Given the description of an element on the screen output the (x, y) to click on. 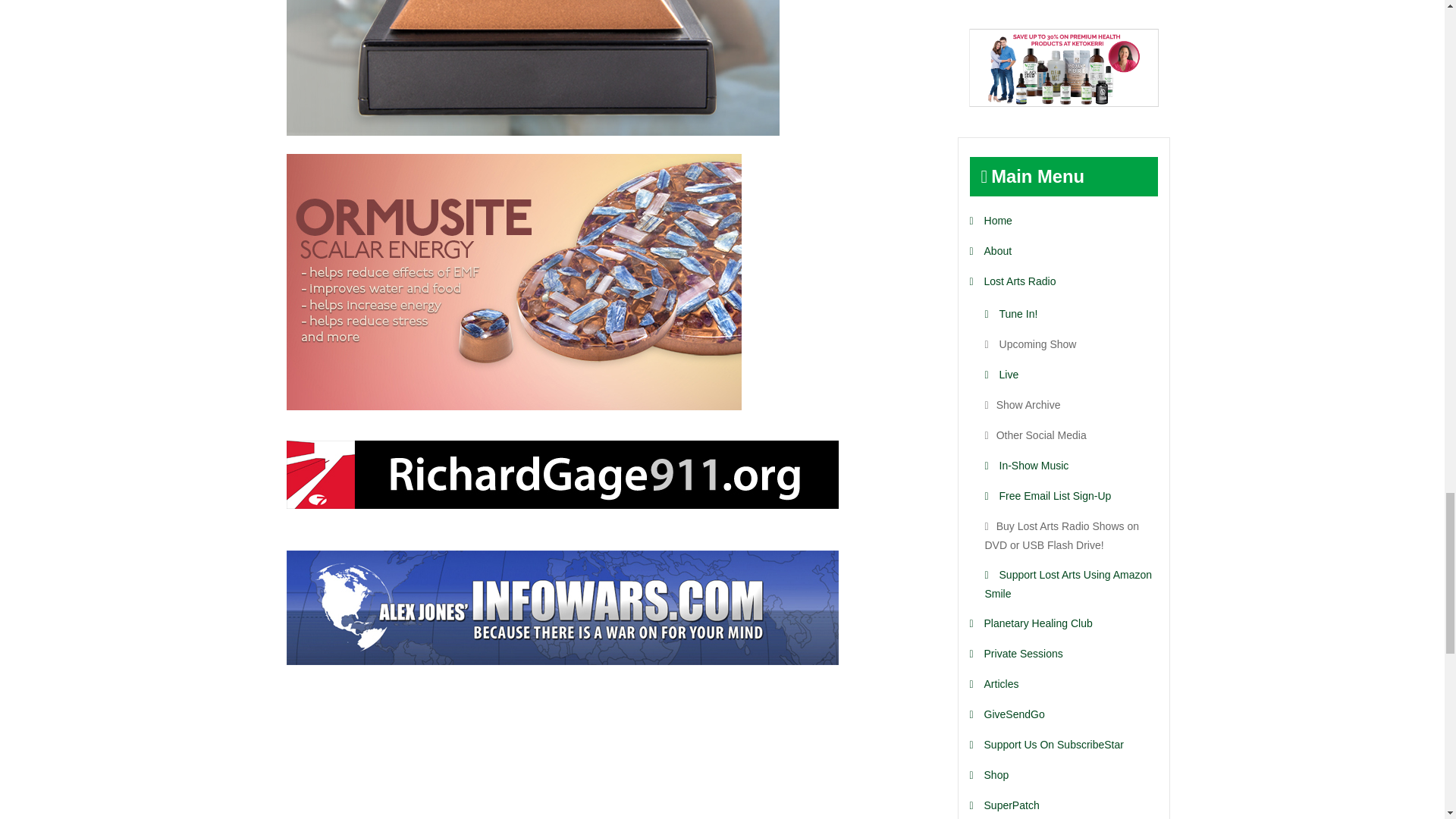
Keto Kerri (1063, 67)
